Given the description of an element on the screen output the (x, y) to click on. 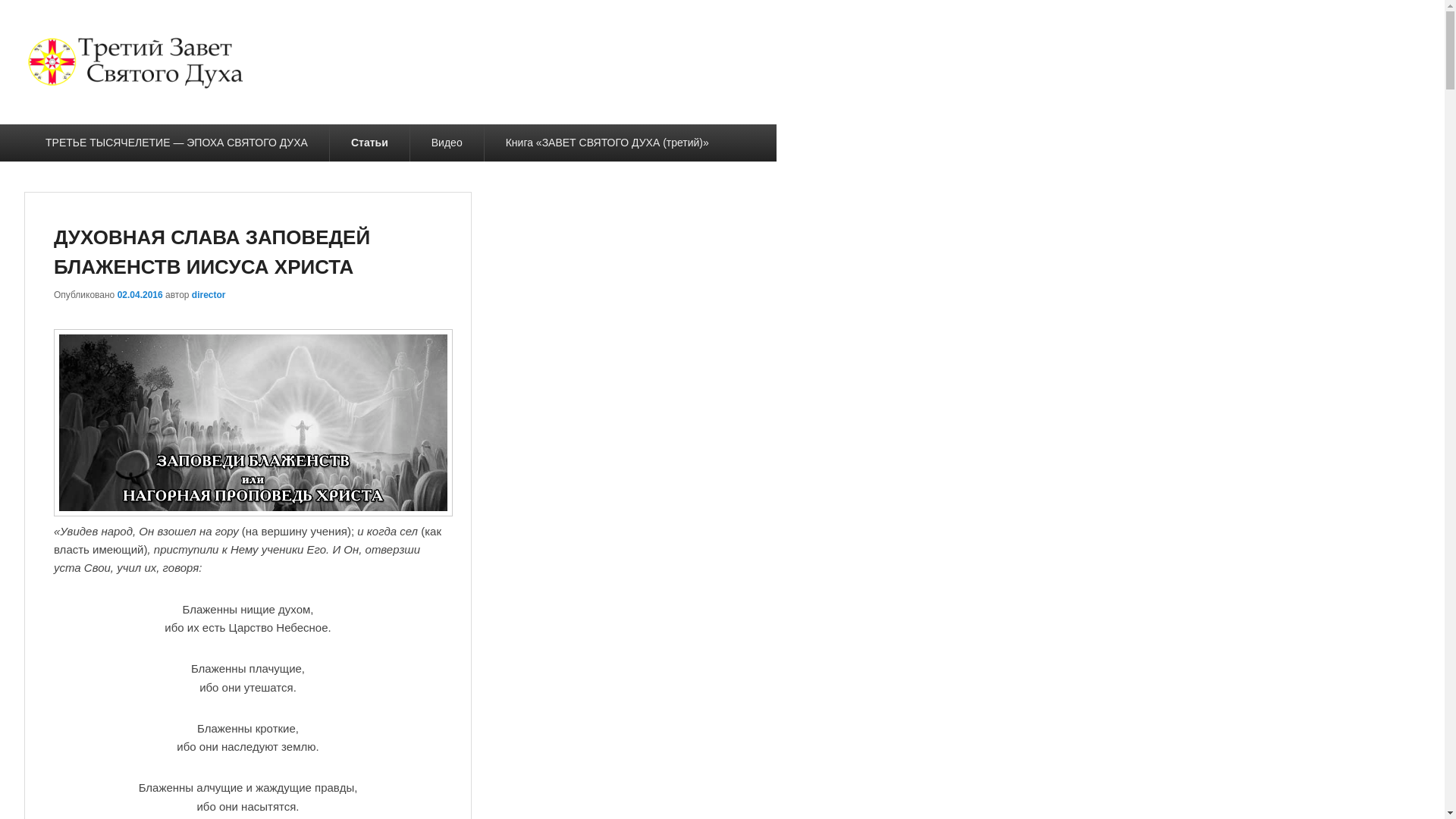
director Element type: text (208, 294)
02.04.2016 Element type: text (140, 294)
